Given the description of an element on the screen output the (x, y) to click on. 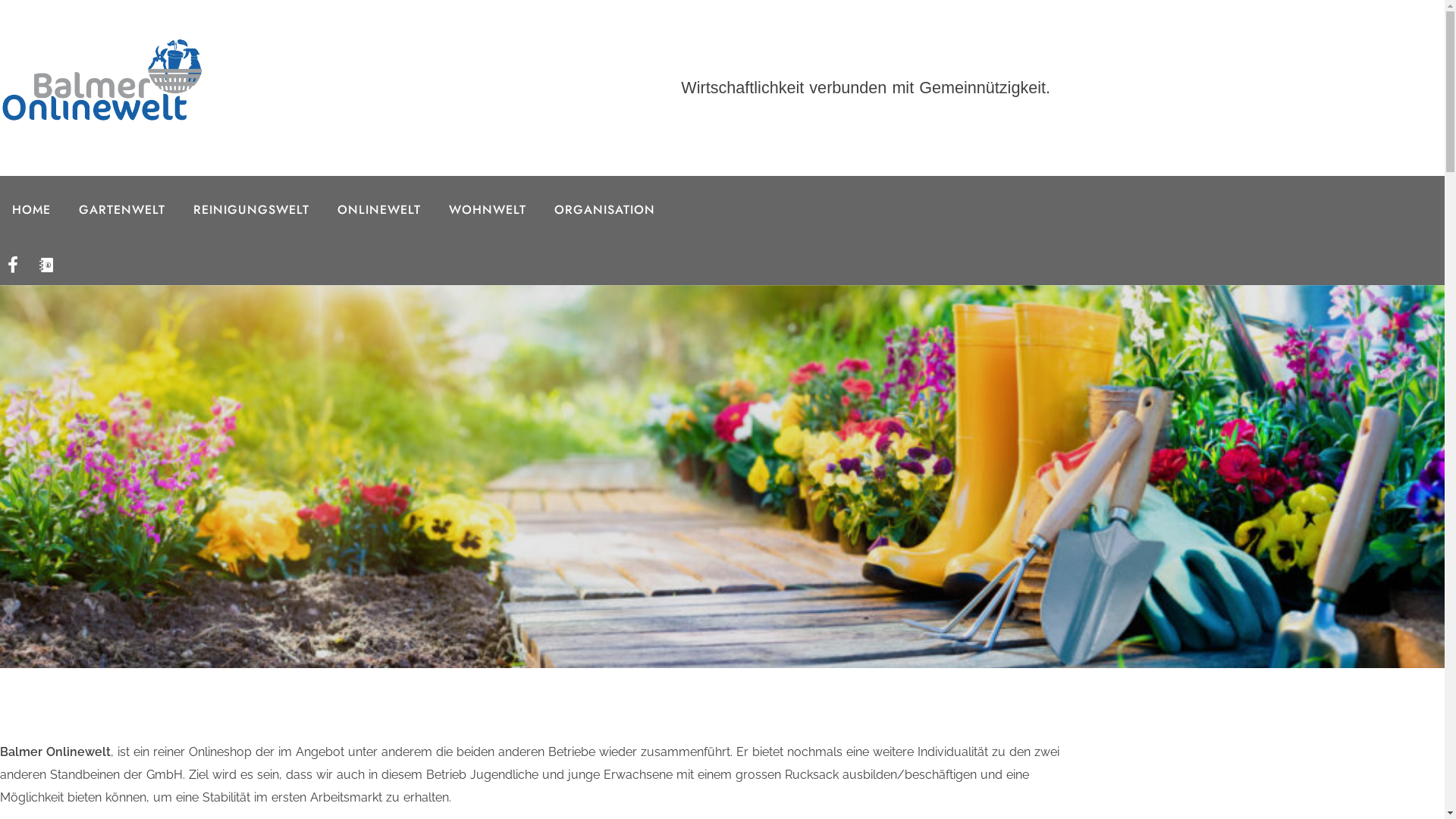
REINIGUNGSWELT Element type: text (251, 210)
GARTENWELT Element type: text (121, 210)
WOHNWELT Element type: text (487, 210)
ONLINEWELT Element type: text (379, 210)
ORGANISATION Element type: text (604, 210)
HOME Element type: text (31, 210)
